Given the description of an element on the screen output the (x, y) to click on. 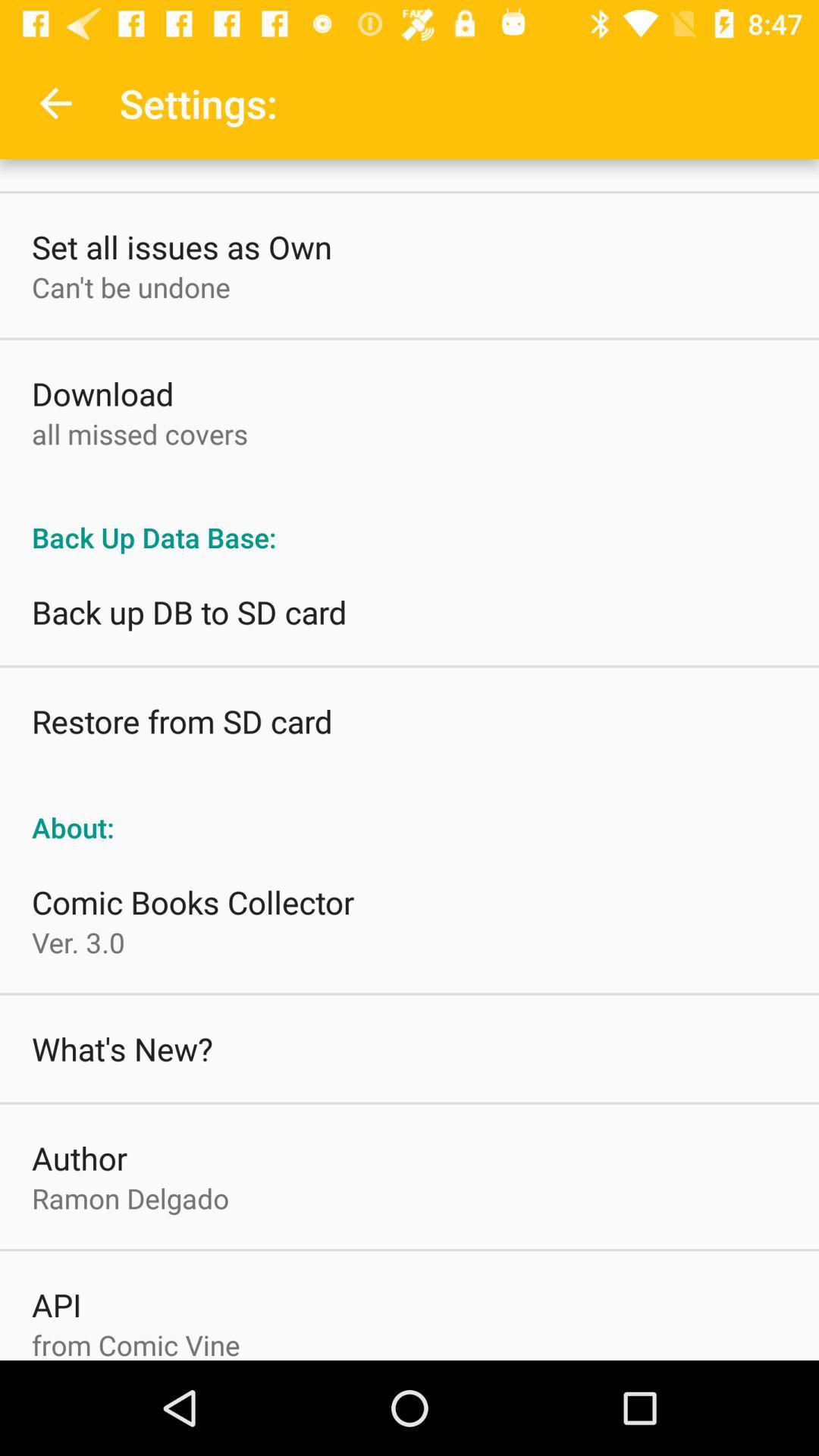
choose item above the api icon (130, 1198)
